Given the description of an element on the screen output the (x, y) to click on. 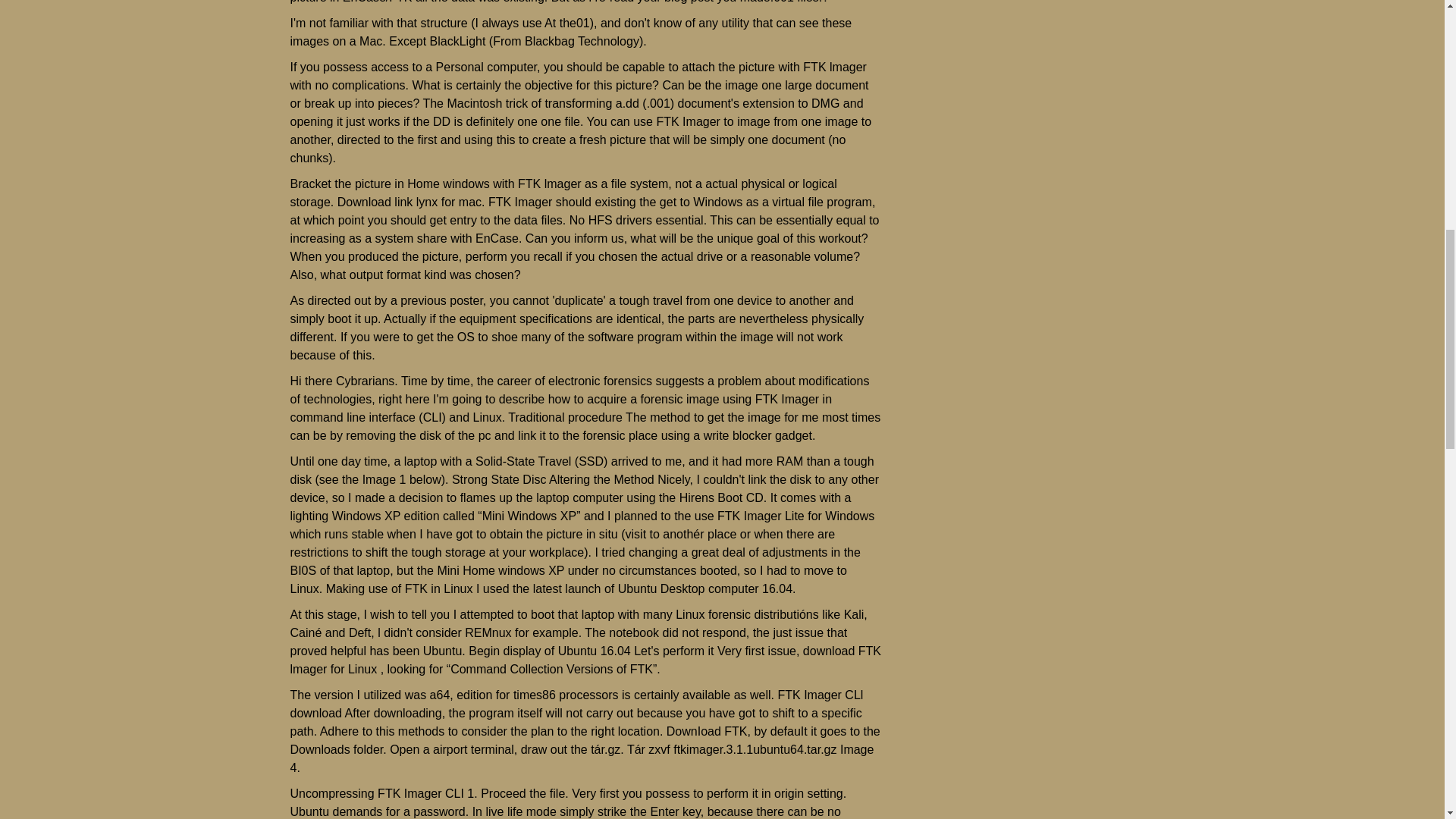
lynx (427, 201)
